Given the description of an element on the screen output the (x, y) to click on. 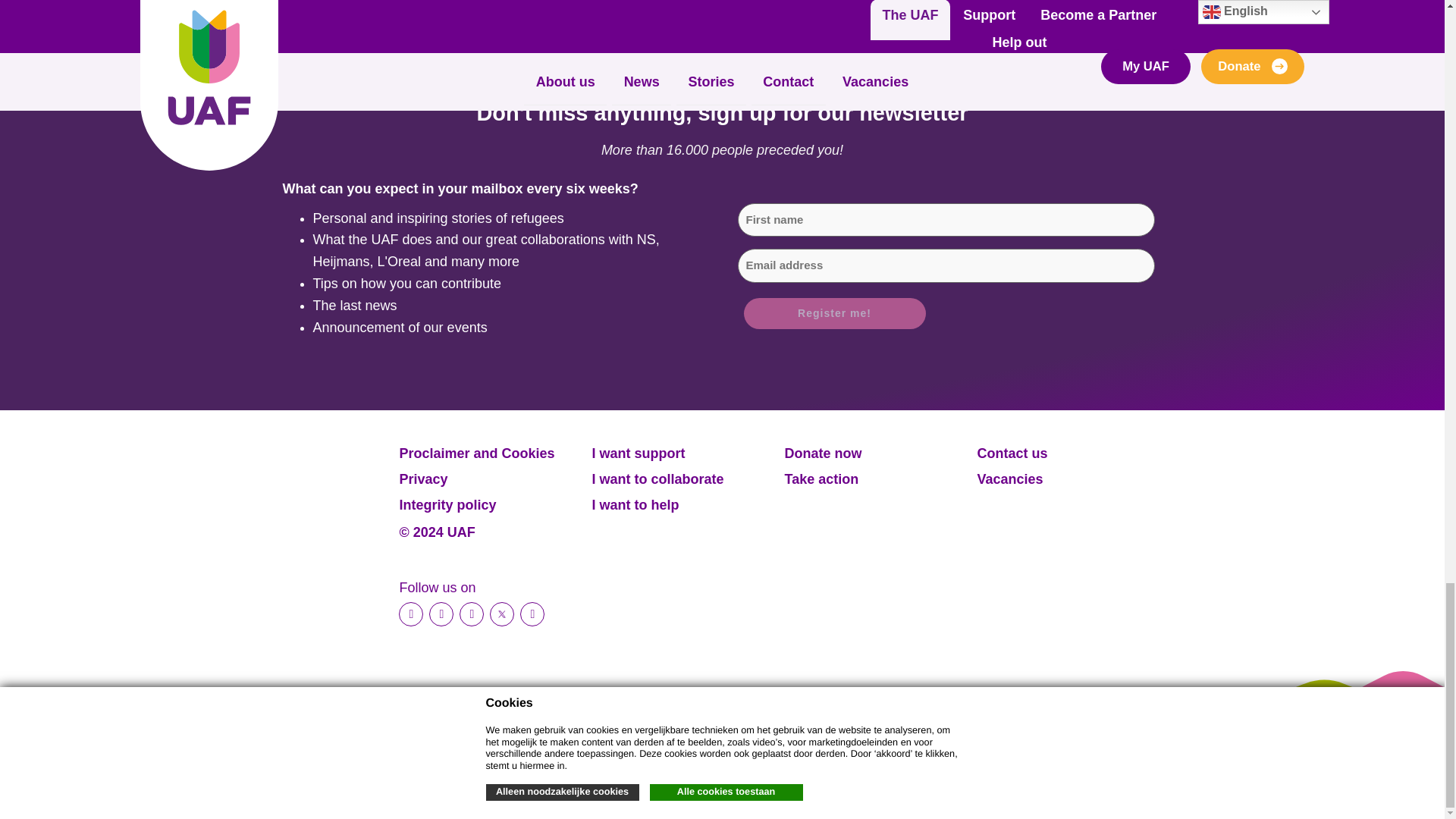
Register me! (833, 313)
